Given the description of an element on the screen output the (x, y) to click on. 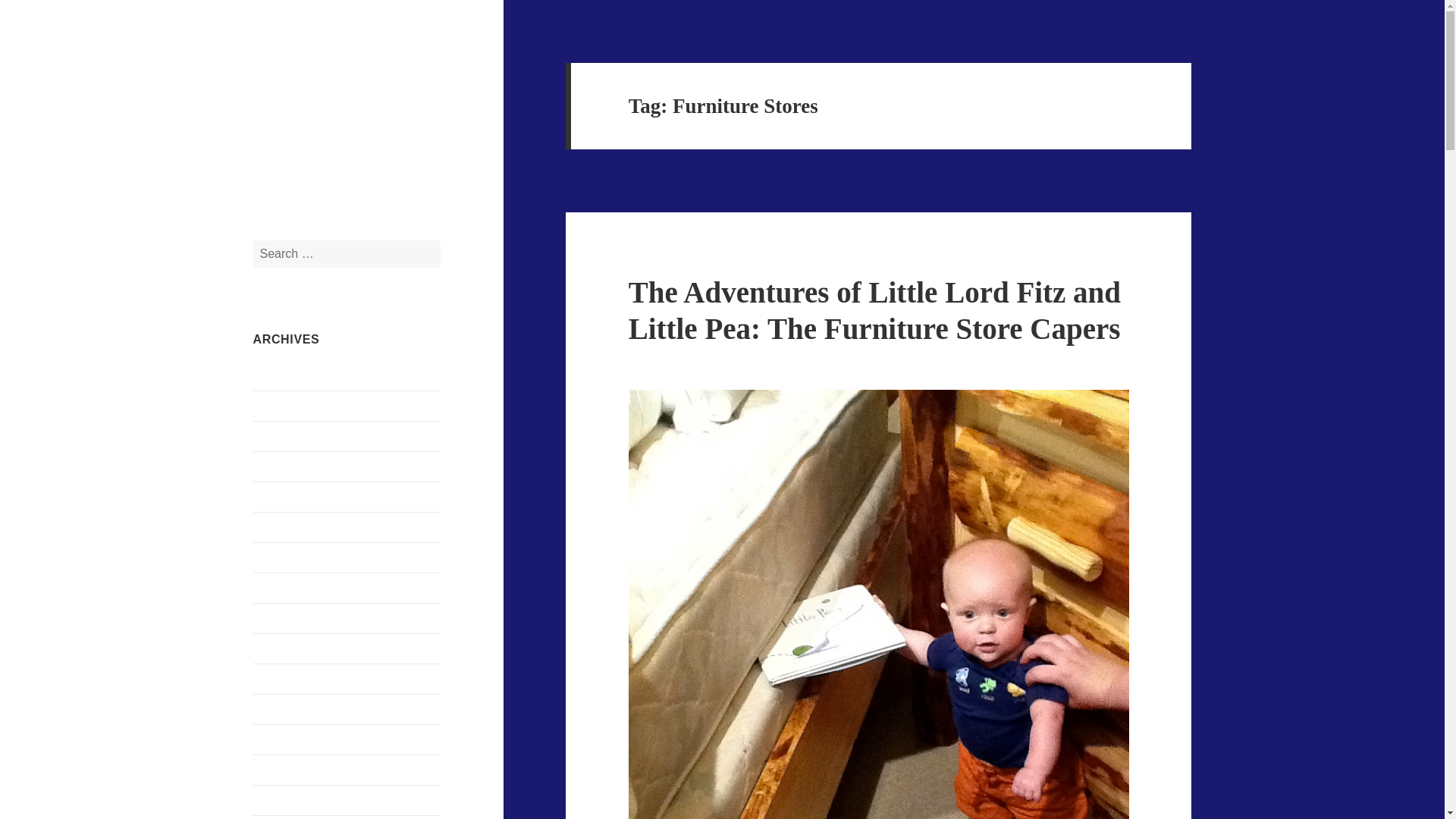
June 2016 (277, 405)
April 2016 (279, 466)
May 2016 (277, 436)
March 2016 (283, 496)
April 2015 (279, 648)
February 2016 (288, 526)
November 2014 (292, 708)
Josh's Froz-T-Freez Internet Drive-Inn (322, 99)
August 2013 (284, 799)
December 2015 (291, 557)
May 2015 (277, 617)
July 2016 (277, 375)
October 2015 (286, 587)
